Given the description of an element on the screen output the (x, y) to click on. 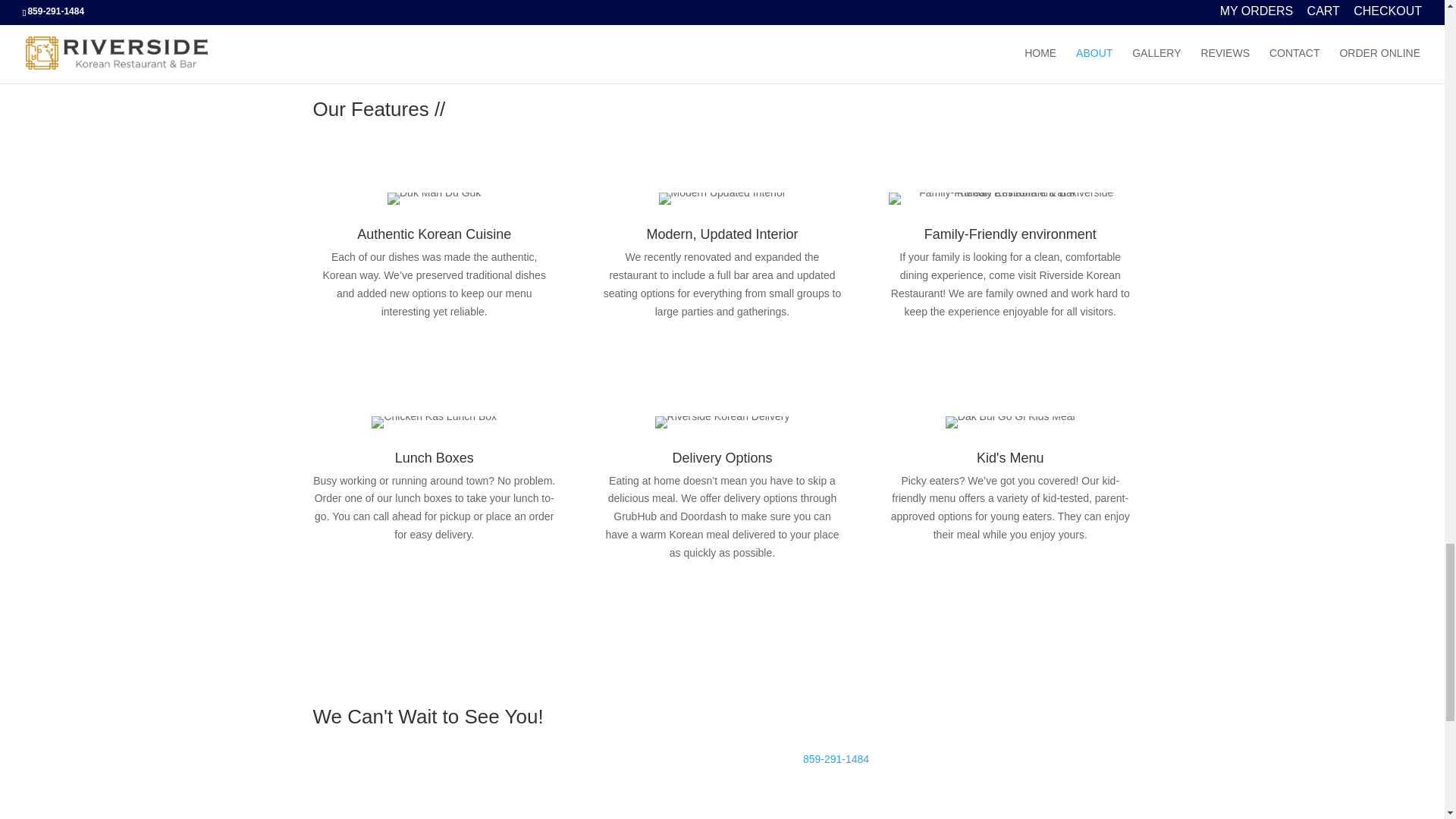
Call Us (825, 735)
Book a Table (372, 775)
859-291-1484 (836, 758)
